Given the description of an element on the screen output the (x, y) to click on. 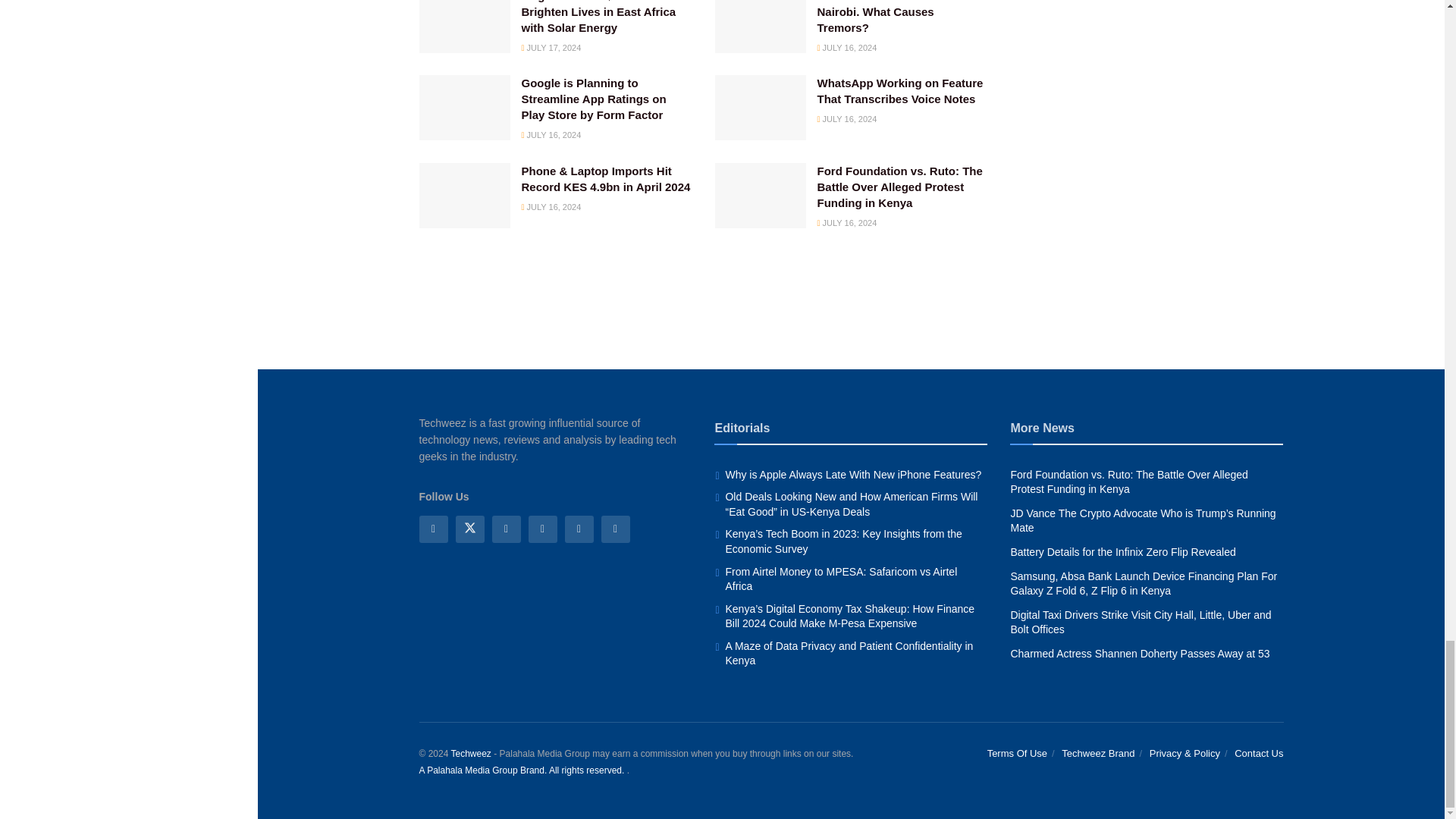
Techweez, a Palahala Media Group Brand. All rights reserved (469, 753)
